Given the description of an element on the screen output the (x, y) to click on. 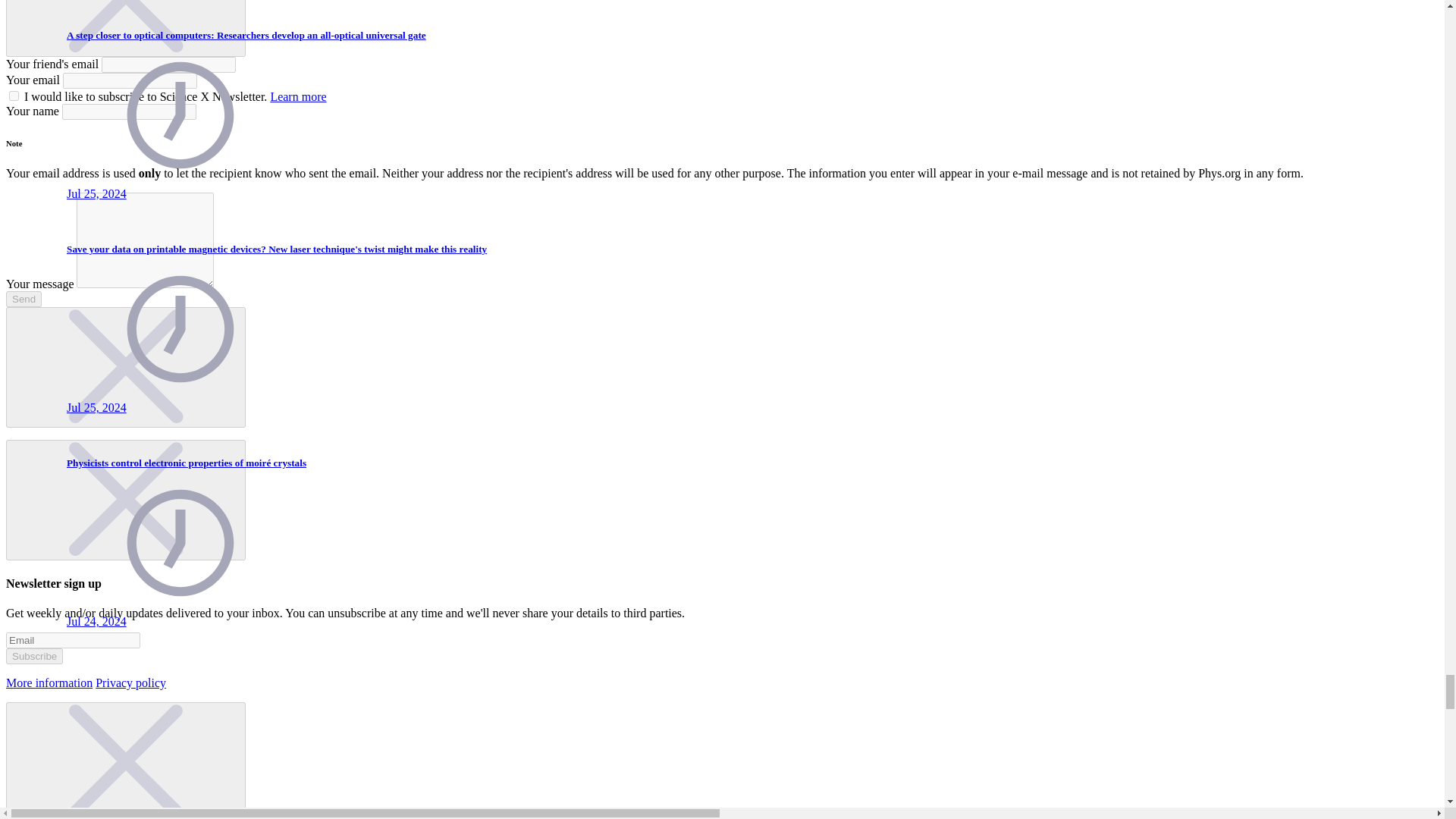
1 (13, 95)
